Given the description of an element on the screen output the (x, y) to click on. 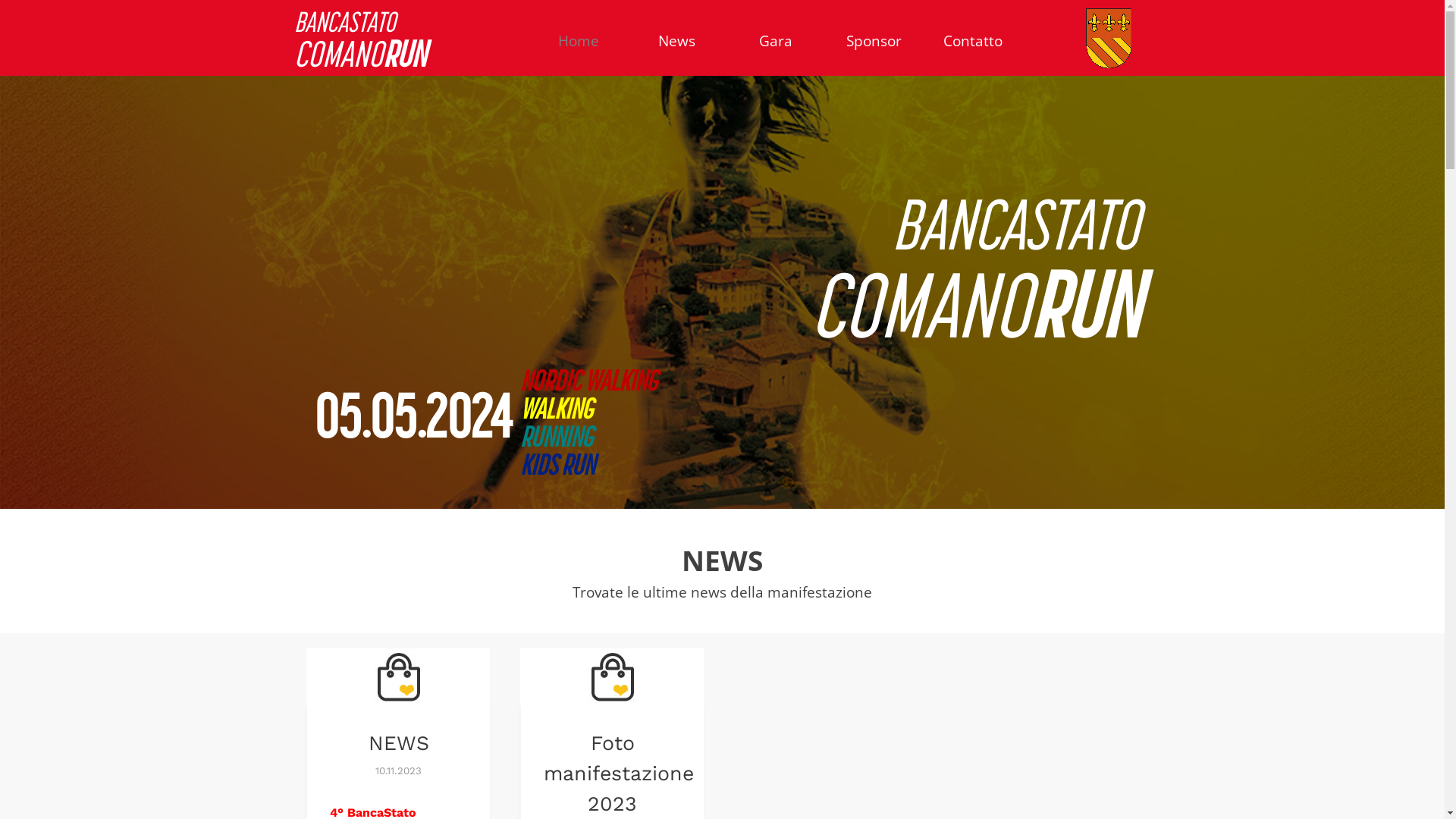
Home Element type: text (578, 40)
News Element type: text (676, 40)
Contatto Element type: text (972, 40)
Sponsor Element type: text (874, 40)
